Given the description of an element on the screen output the (x, y) to click on. 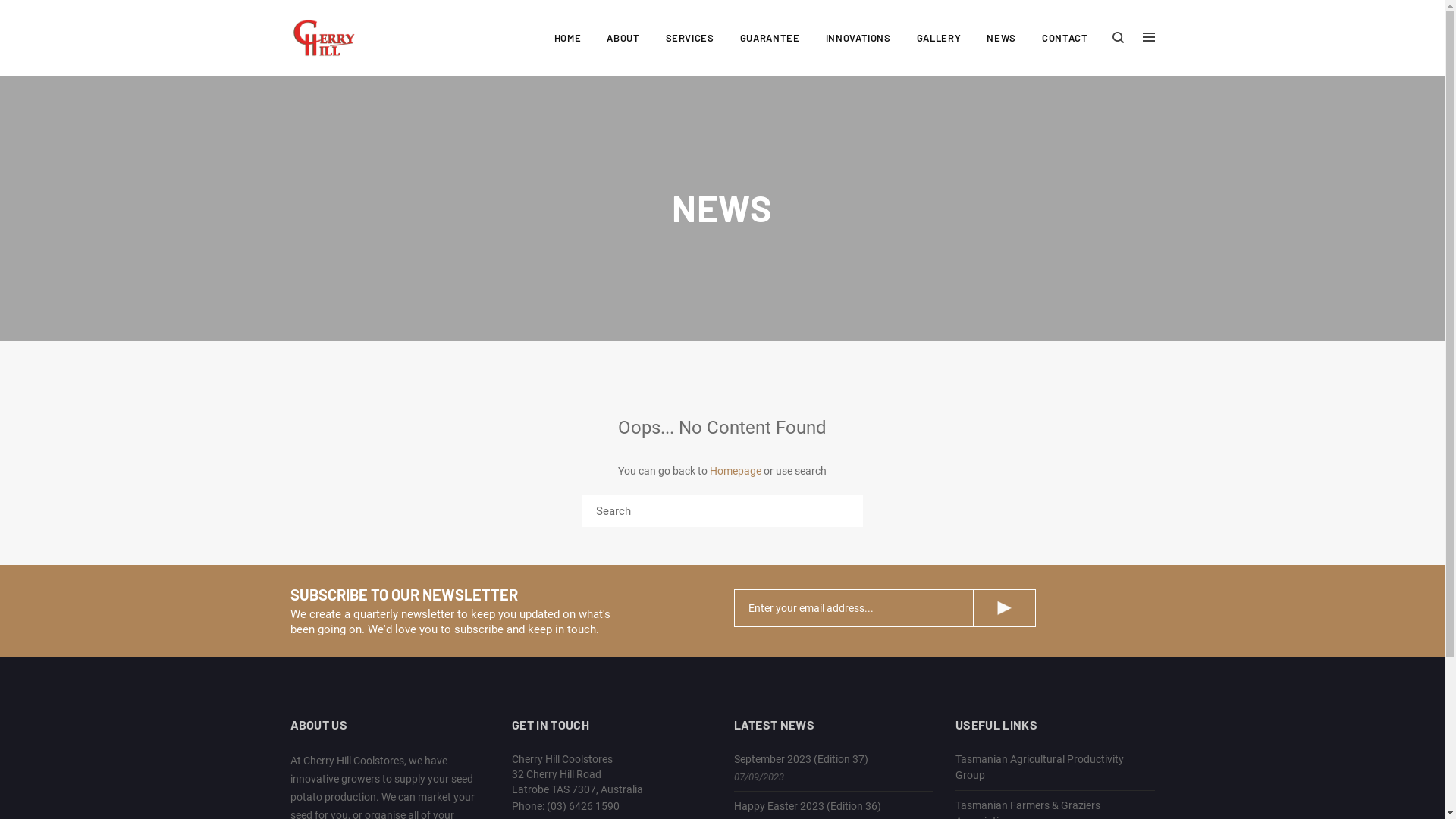
NEWS Element type: text (1001, 37)
CONTACT Element type: text (1065, 37)
HOME Element type: text (567, 37)
ABOUT Element type: text (622, 37)
(03) 6426 1590 Element type: text (582, 806)
SERVICES Element type: text (689, 37)
September 2023 (Edition 37) Element type: text (801, 759)
GALLERY Element type: text (938, 37)
INNOVATIONS Element type: text (857, 37)
Submit Element type: text (1004, 607)
GUARANTEE Element type: text (769, 37)
Tasmanian Agricultural Productivity Group Element type: text (1039, 767)
Happy Easter 2023 (Edition 36) Element type: text (807, 806)
Homepage Element type: text (735, 470)
